Given the description of an element on the screen output the (x, y) to click on. 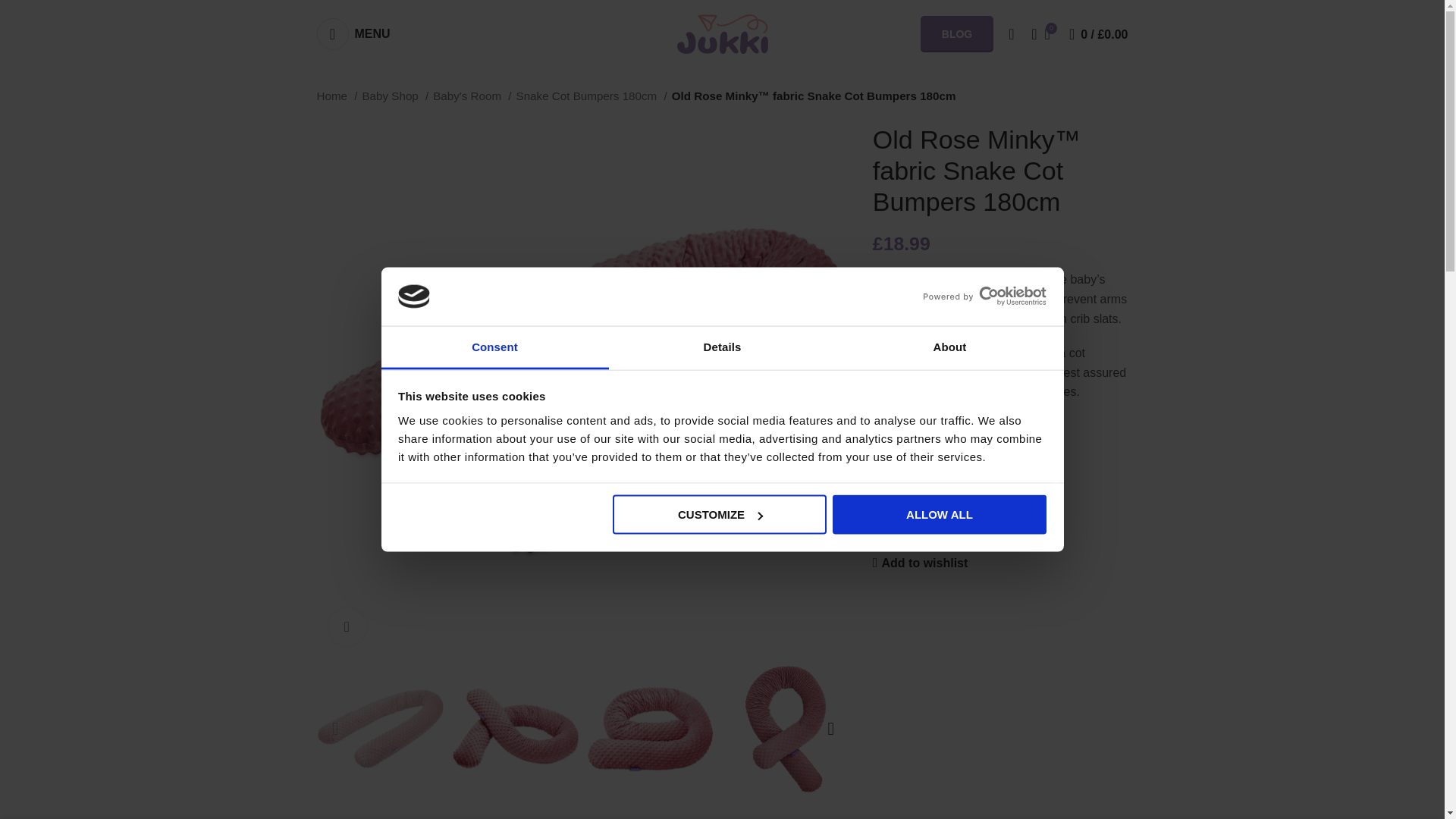
About (948, 347)
Details (721, 347)
Consent (494, 347)
